Given the description of an element on the screen output the (x, y) to click on. 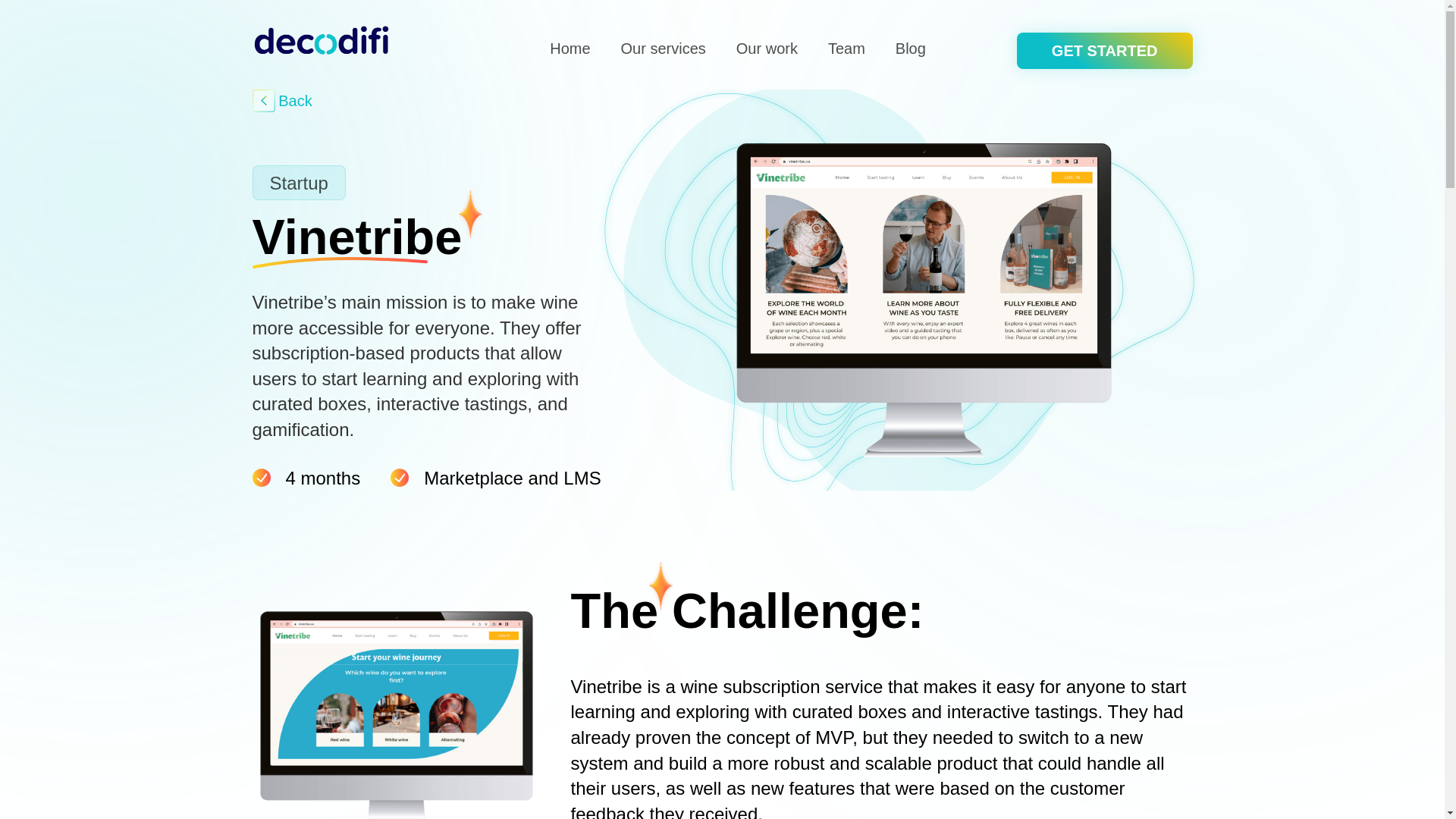
Team (846, 48)
Our work (766, 48)
Home (569, 48)
GET STARTED (1104, 49)
Back (283, 100)
